Given the description of an element on the screen output the (x, y) to click on. 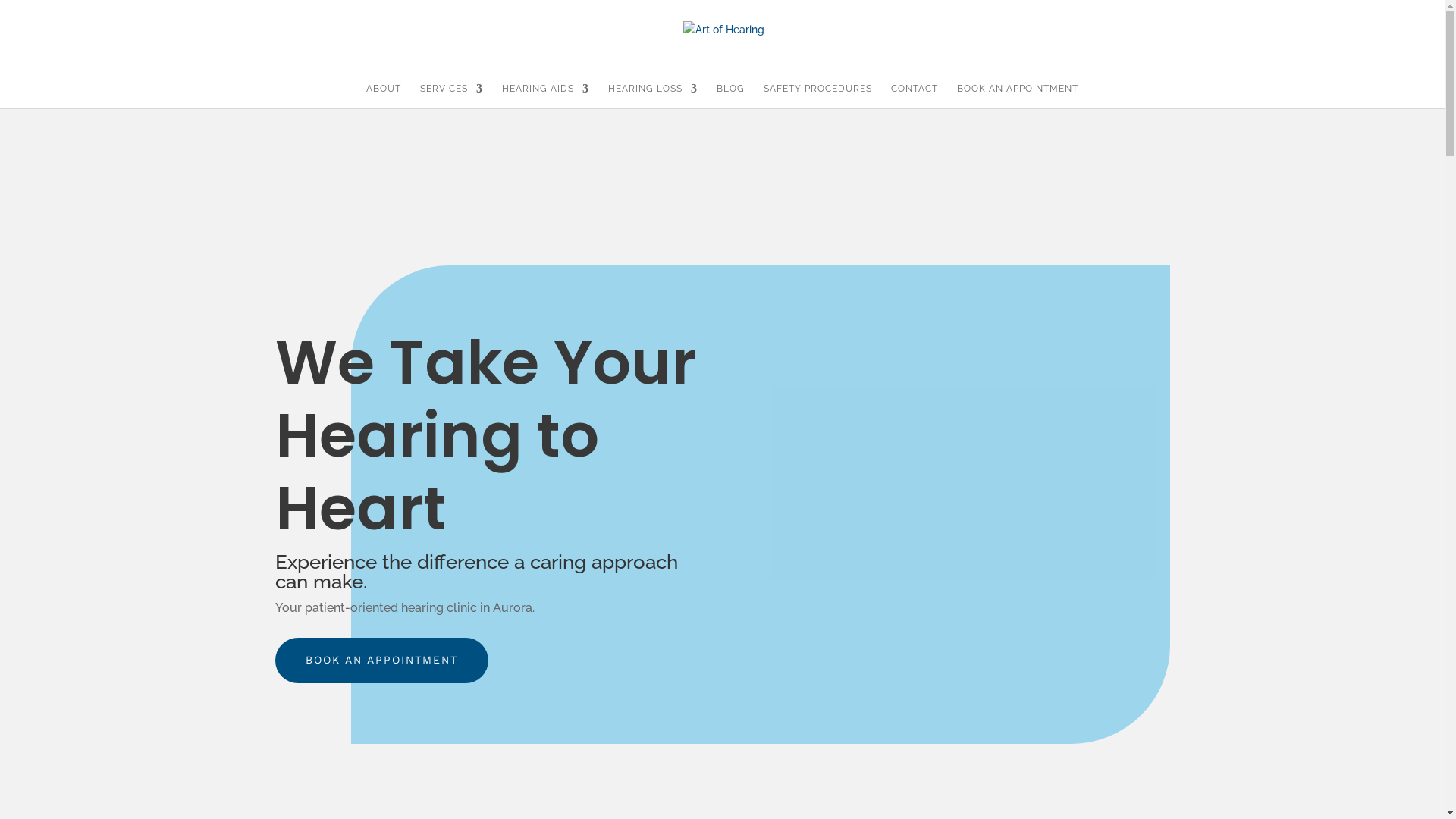
BOOK AN APPOINTMENT Element type: text (1017, 95)
CONTACT Element type: text (914, 95)
ABOUT Element type: text (383, 95)
BLOG Element type: text (730, 95)
HEARING AIDS Element type: text (545, 95)
BOOK AN APPOINTMENT Element type: text (380, 660)
SAFETY PROCEDURES Element type: text (817, 95)
SERVICES Element type: text (451, 95)
HEARING LOSS Element type: text (652, 95)
